Given the description of an element on the screen output the (x, y) to click on. 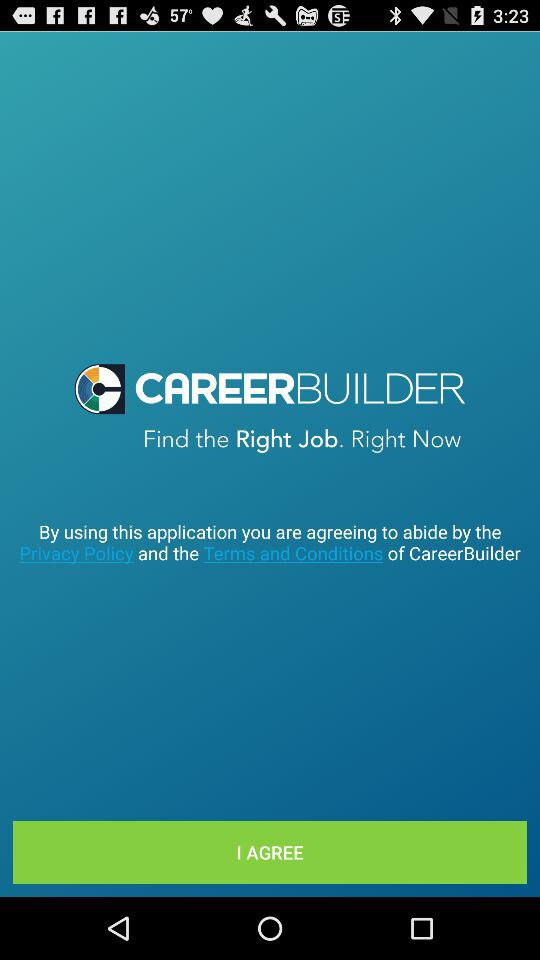
swipe until the i agree (269, 851)
